Given the description of an element on the screen output the (x, y) to click on. 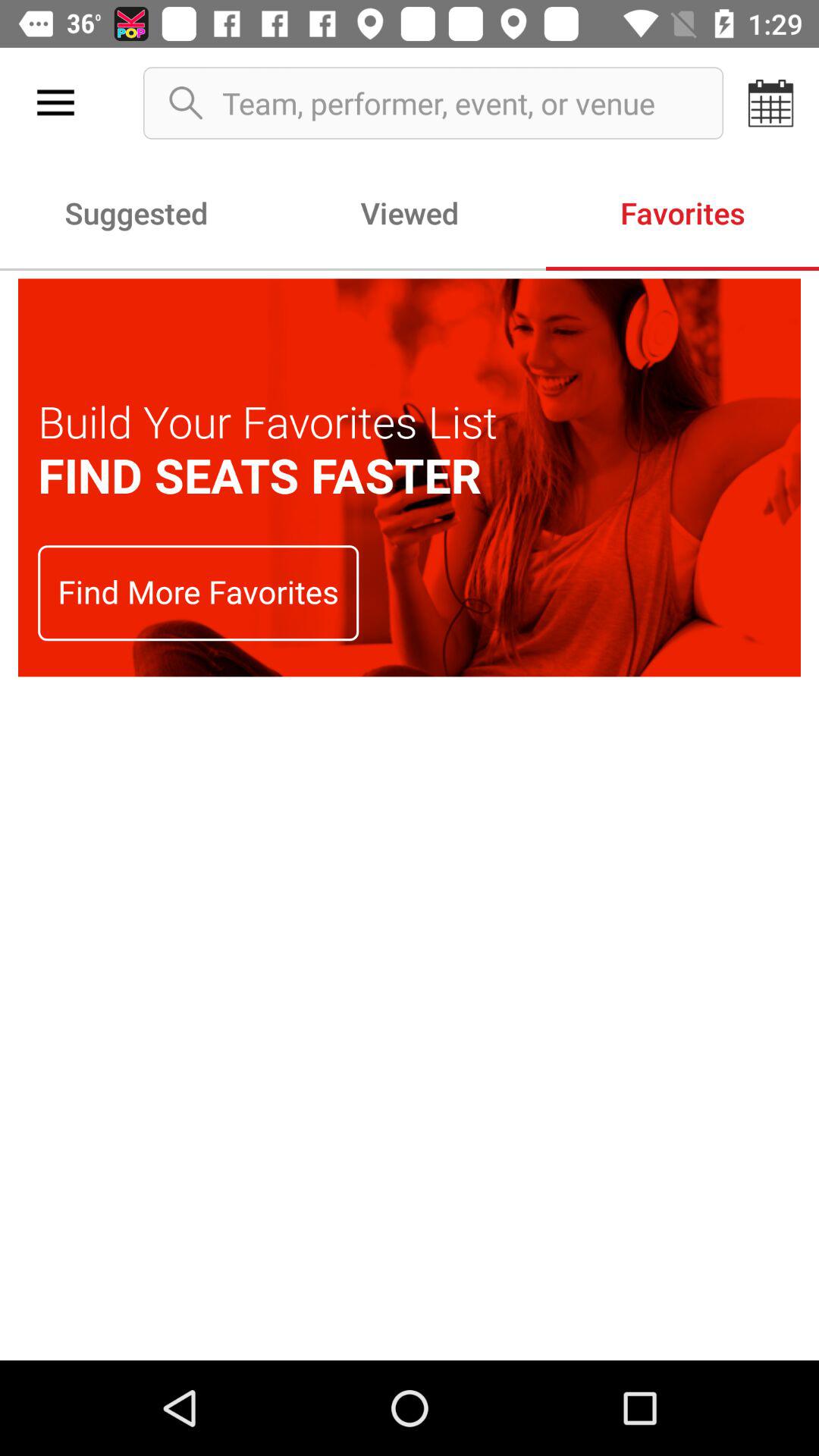
scroll until suggested item (136, 212)
